Given the description of an element on the screen output the (x, y) to click on. 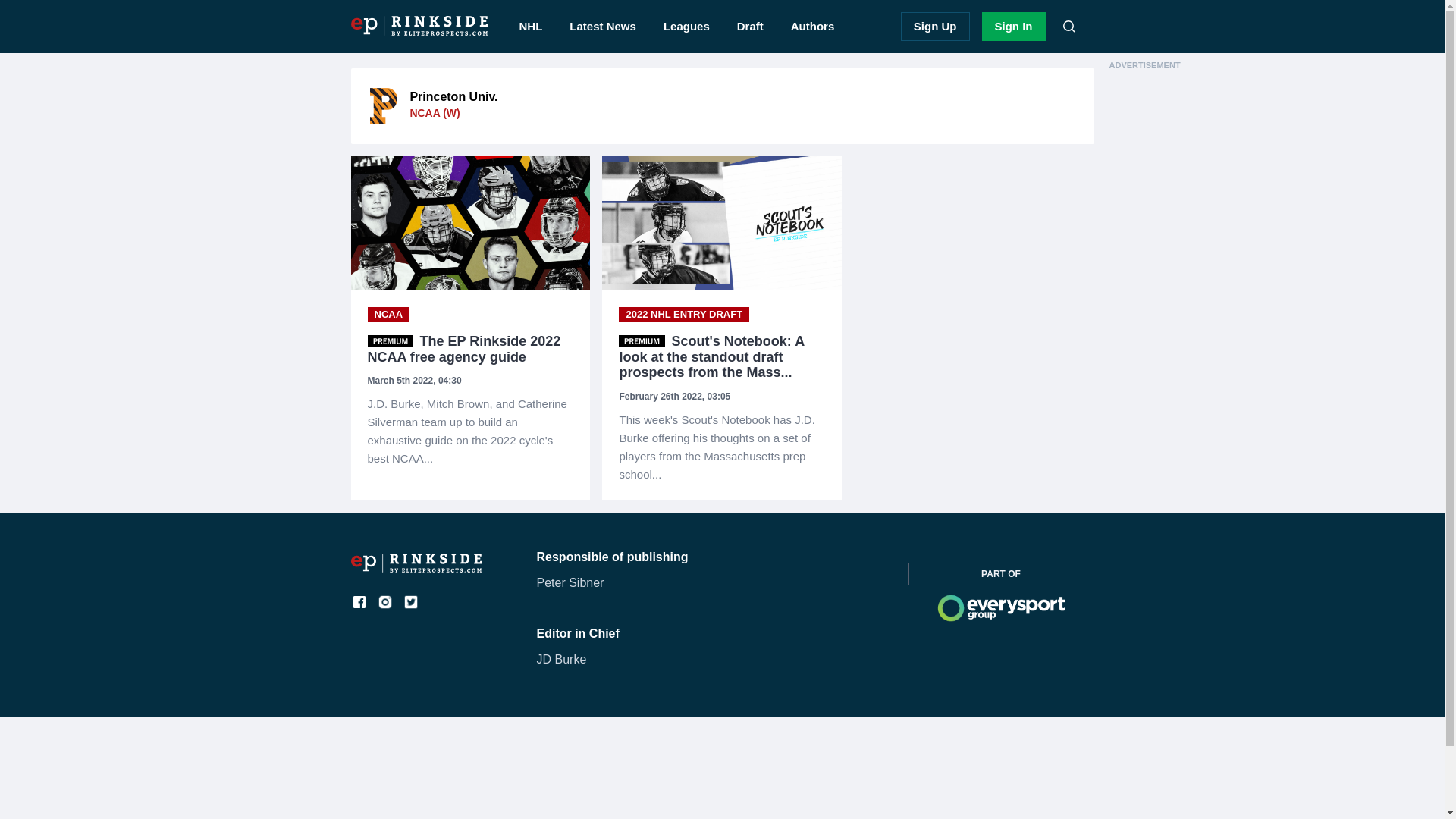
Authors (812, 26)
NCAA (387, 314)
Leagues (686, 26)
The EP Rinkside 2022 NCAA free agency guide (469, 348)
NCAA (387, 314)
eprinkside.com (415, 567)
The EP Rinkside 2022 NCAA free agency guide (469, 430)
Latest News (602, 26)
Sign In (1013, 26)
eprinkside.com (418, 26)
2022 NHL ENTRY DRAFT (683, 314)
NHL (530, 26)
